Given the description of an element on the screen output the (x, y) to click on. 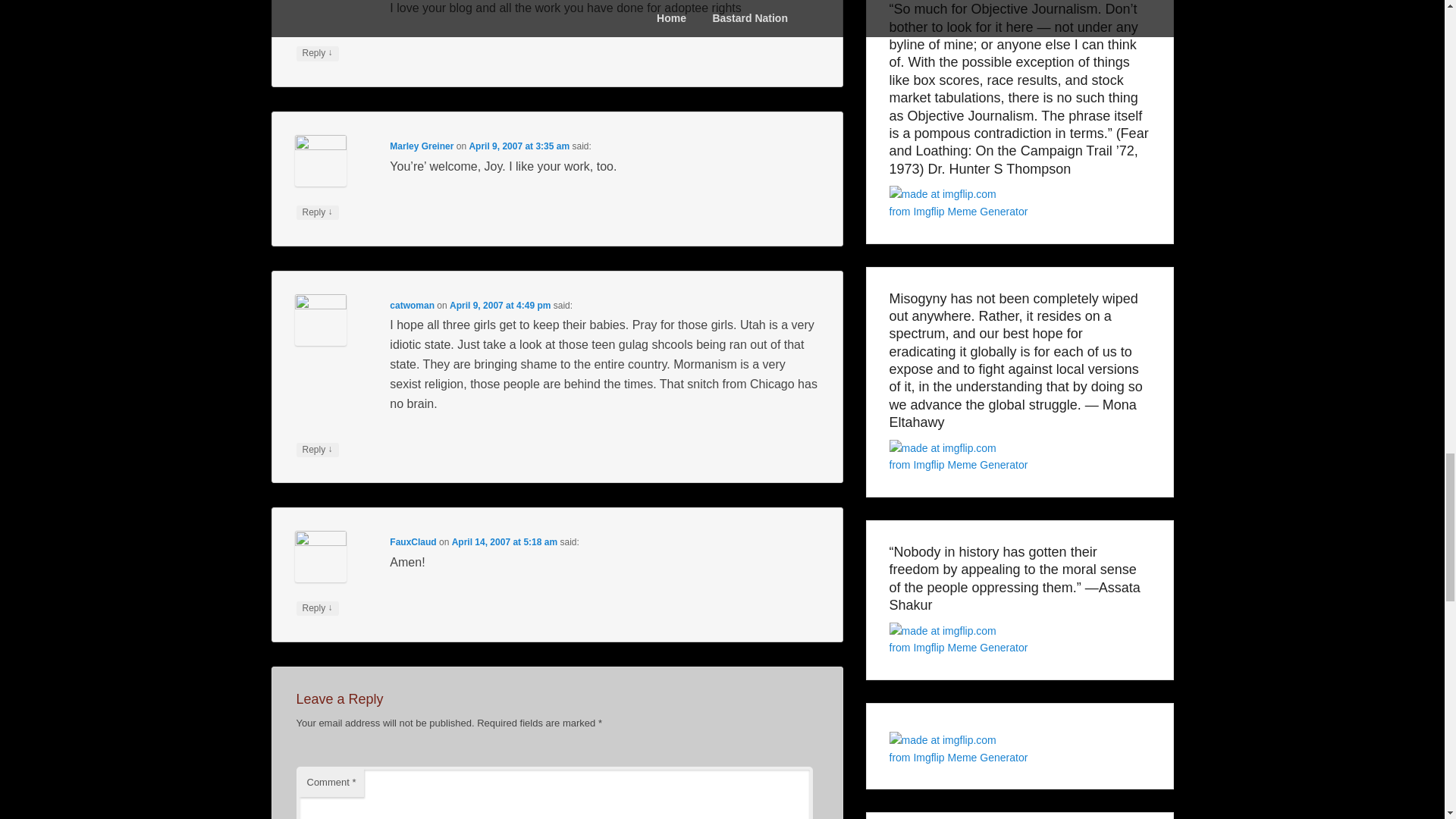
made at imgflip.com (941, 740)
made at imgflip.com (941, 448)
made at imgflip.com (941, 194)
made at imgflip.com (941, 630)
